Given the description of an element on the screen output the (x, y) to click on. 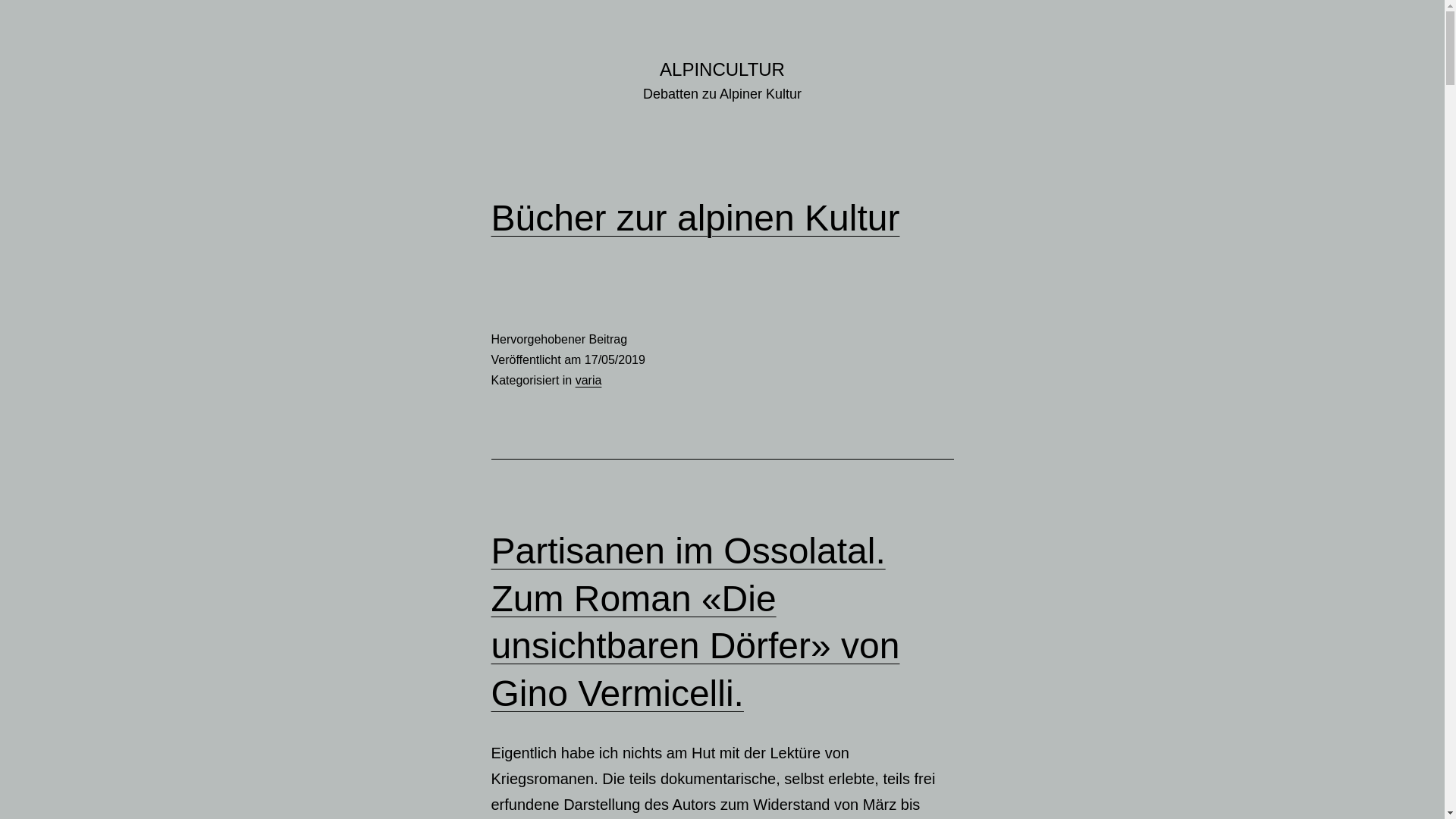
varia Element type: text (588, 379)
